Given the description of an element on the screen output the (x, y) to click on. 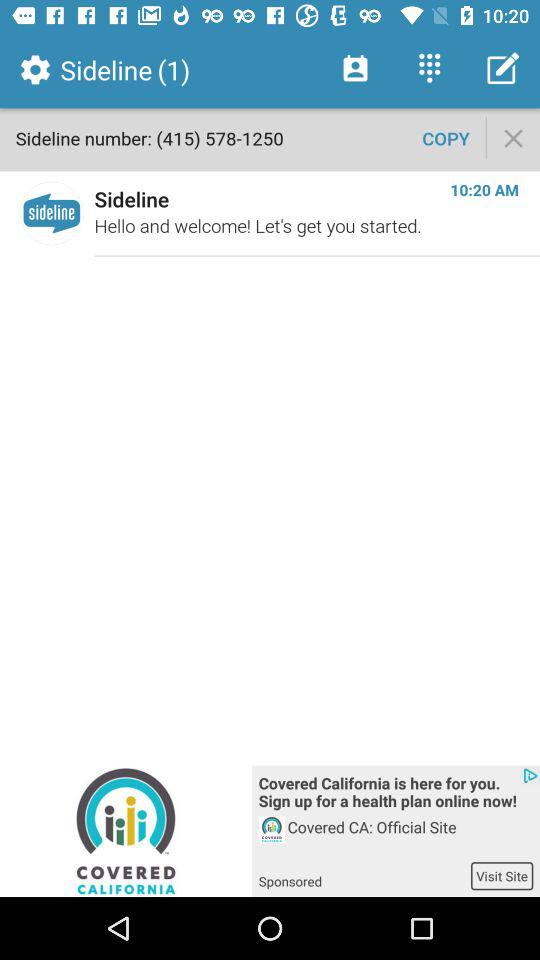
scroll until the covered ca official (410, 838)
